Given the description of an element on the screen output the (x, y) to click on. 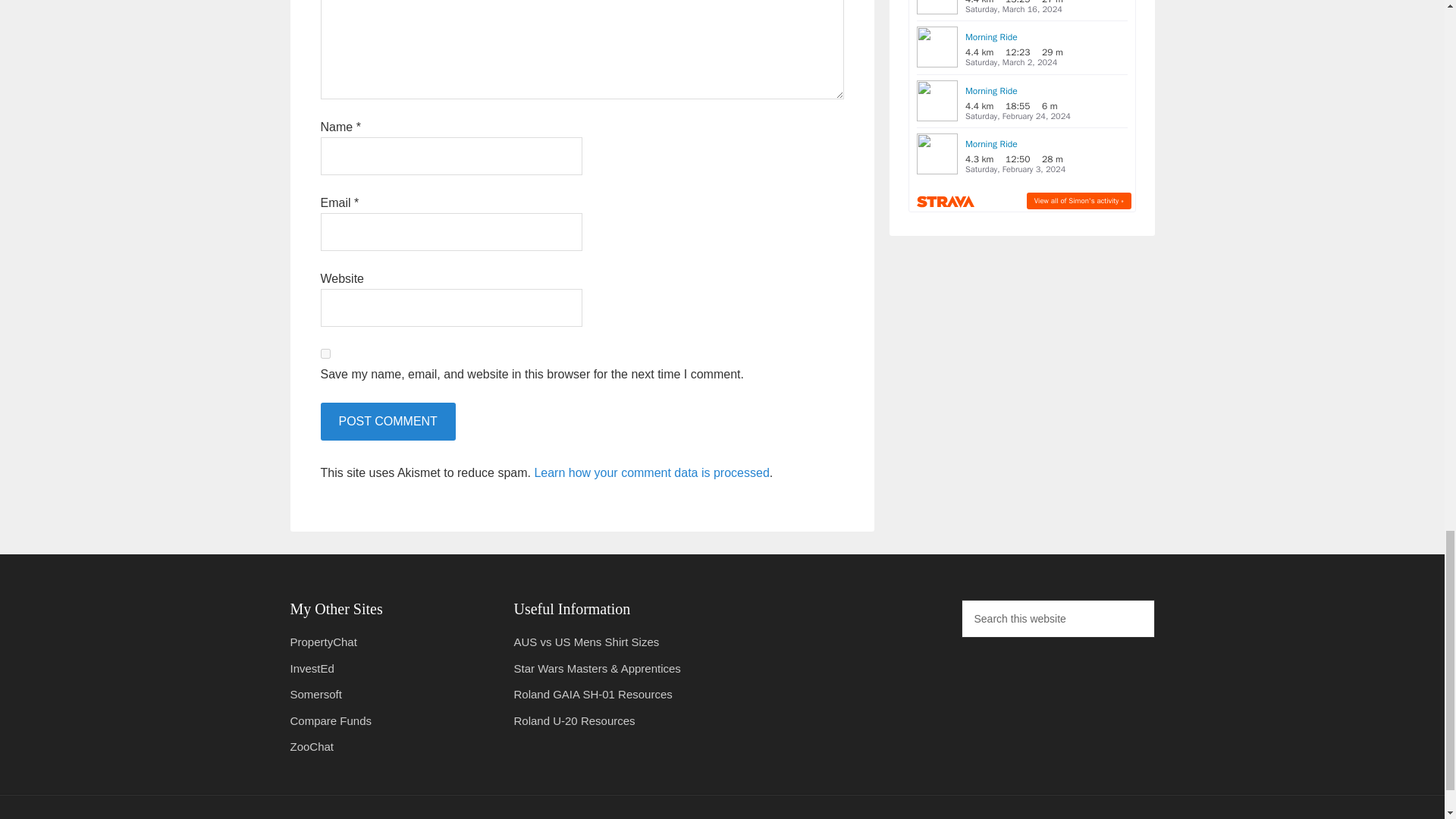
Analysis of Tweets by Australian MPs (322, 641)
yes (325, 353)
Post Comment (387, 421)
Post Comment (387, 421)
Compare Managed Funds and ETFs (330, 720)
Learn how your comment data is processed (651, 472)
Investor Education (311, 667)
